Given the description of an element on the screen output the (x, y) to click on. 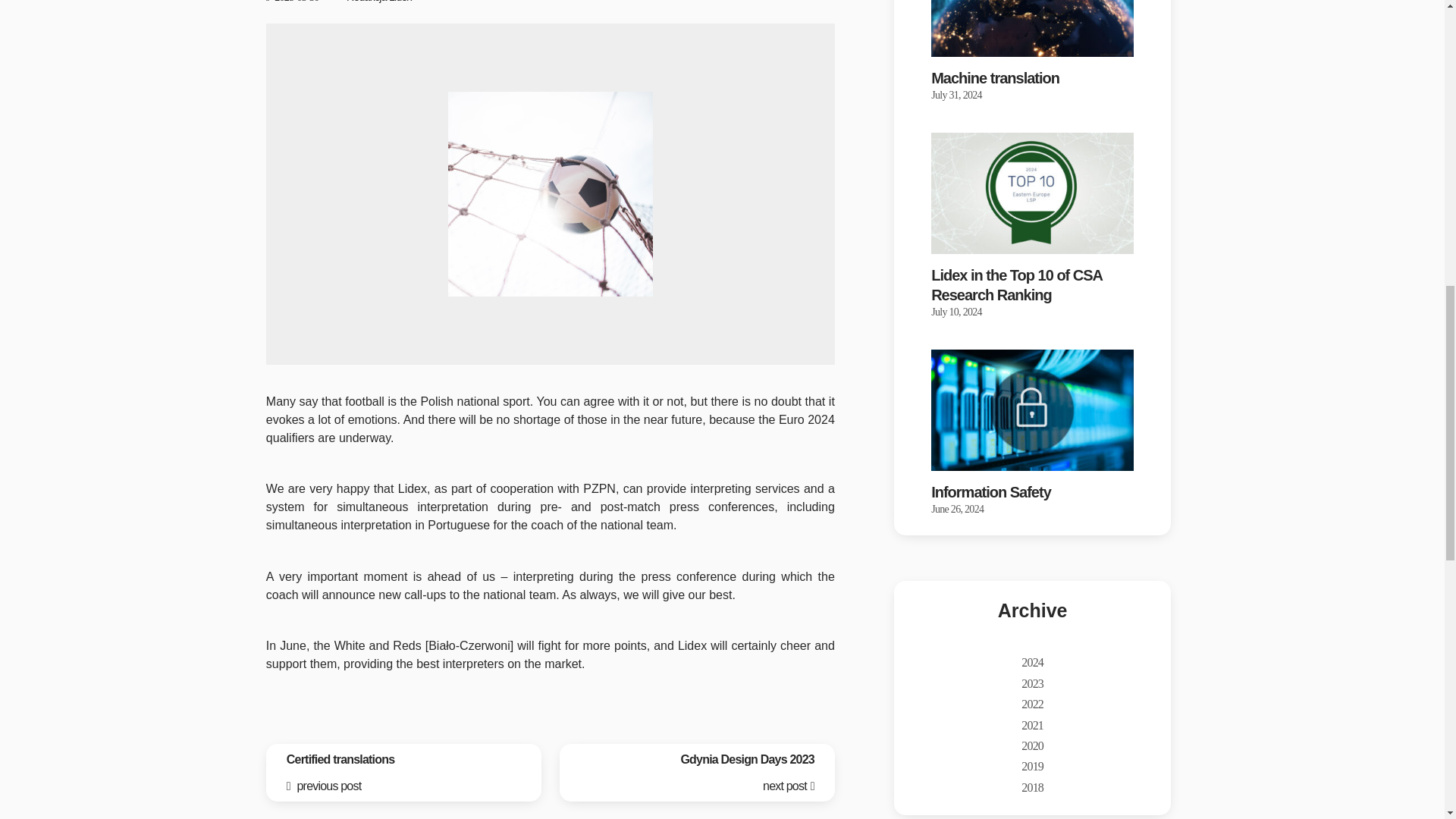
2022 (1032, 703)
2023 (696, 772)
2021 (1032, 683)
Information Safety (1032, 725)
Lidex in the Top 10 of CSA Research Ranking (991, 493)
Machine translation (1016, 285)
2019 (403, 772)
2018 (995, 79)
